Given the description of an element on the screen output the (x, y) to click on. 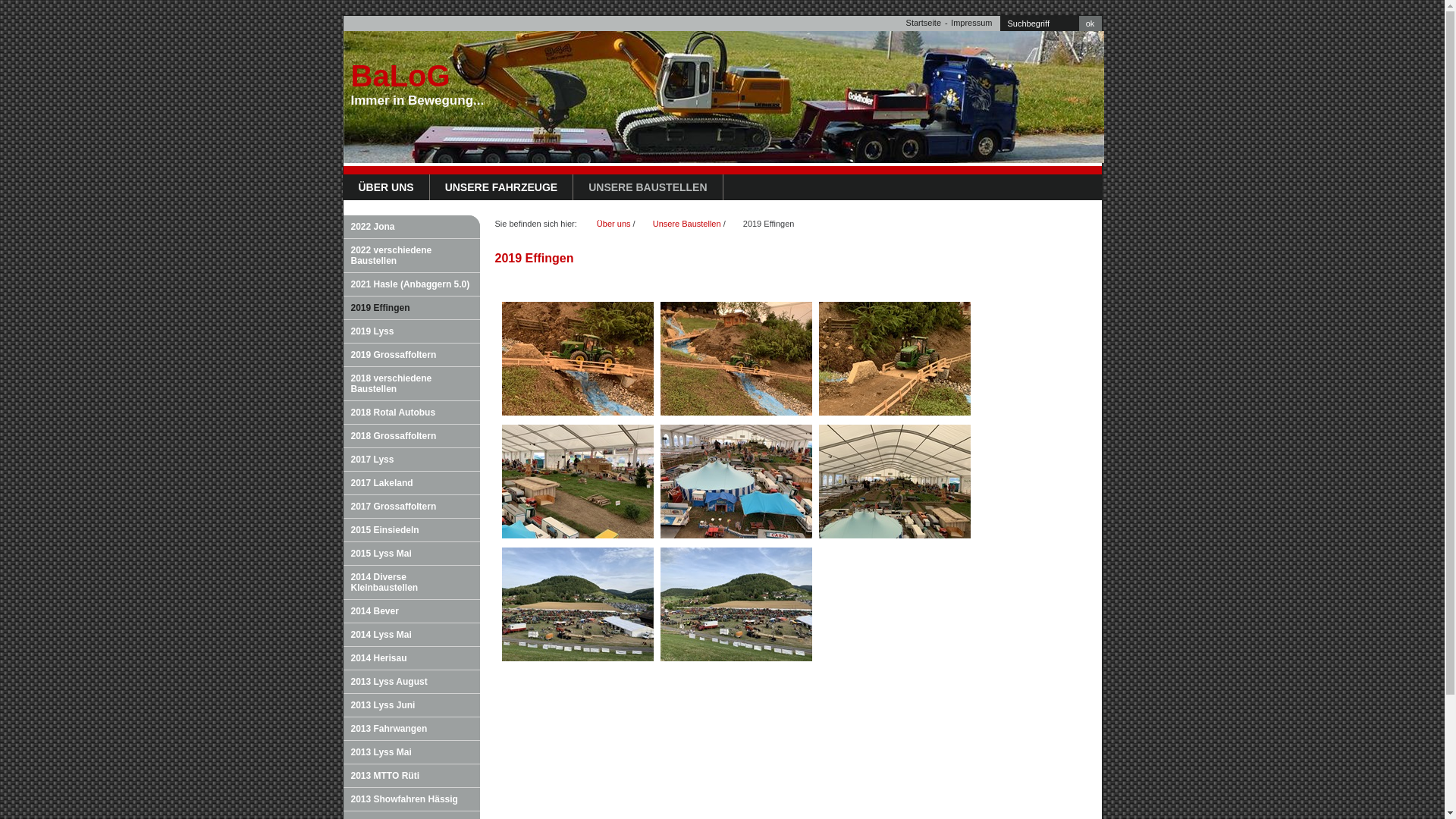
2013 Lyss August Element type: text (410, 681)
2017 Lakeland Element type: text (410, 483)
2013 Fahrwangen Element type: text (410, 728)
2015 Einsiedeln Element type: text (410, 530)
UNSERE FAHRZEUGE Element type: text (501, 187)
Impressum Element type: text (970, 22)
UNSERE BAUSTELLEN Element type: text (647, 187)
2018 Grossaffoltern Element type: text (410, 436)
2017 Lyss Element type: text (410, 459)
2013 Lyss Juni Element type: text (410, 705)
2019 Effingen Element type: text (768, 223)
2017 Grossaffoltern Element type: text (410, 506)
2019 Lyss Element type: text (410, 331)
2022 Jona Element type: text (410, 226)
Startseite Element type: text (923, 22)
2014 Diverse Kleinbaustellen Element type: text (410, 582)
2014 Herisau Element type: text (410, 658)
2014 Lyss Mai Element type: text (410, 634)
2019 Grossaffoltern Element type: text (410, 355)
2018 Rotal Autobus Element type: text (410, 412)
2022 verschiedene Baustellen Element type: text (410, 255)
ok Element type: text (1089, 23)
2018 verschiedene Baustellen Element type: text (410, 384)
2015 Lyss Mai Element type: text (410, 553)
2019 Effingen Element type: text (410, 308)
2013 Lyss Mai Element type: text (410, 752)
2014 Bever Element type: text (410, 611)
2021 Hasle (Anbaggern 5.0) Element type: text (410, 284)
Unsere Baustellen Element type: text (686, 223)
